Given the description of an element on the screen output the (x, y) to click on. 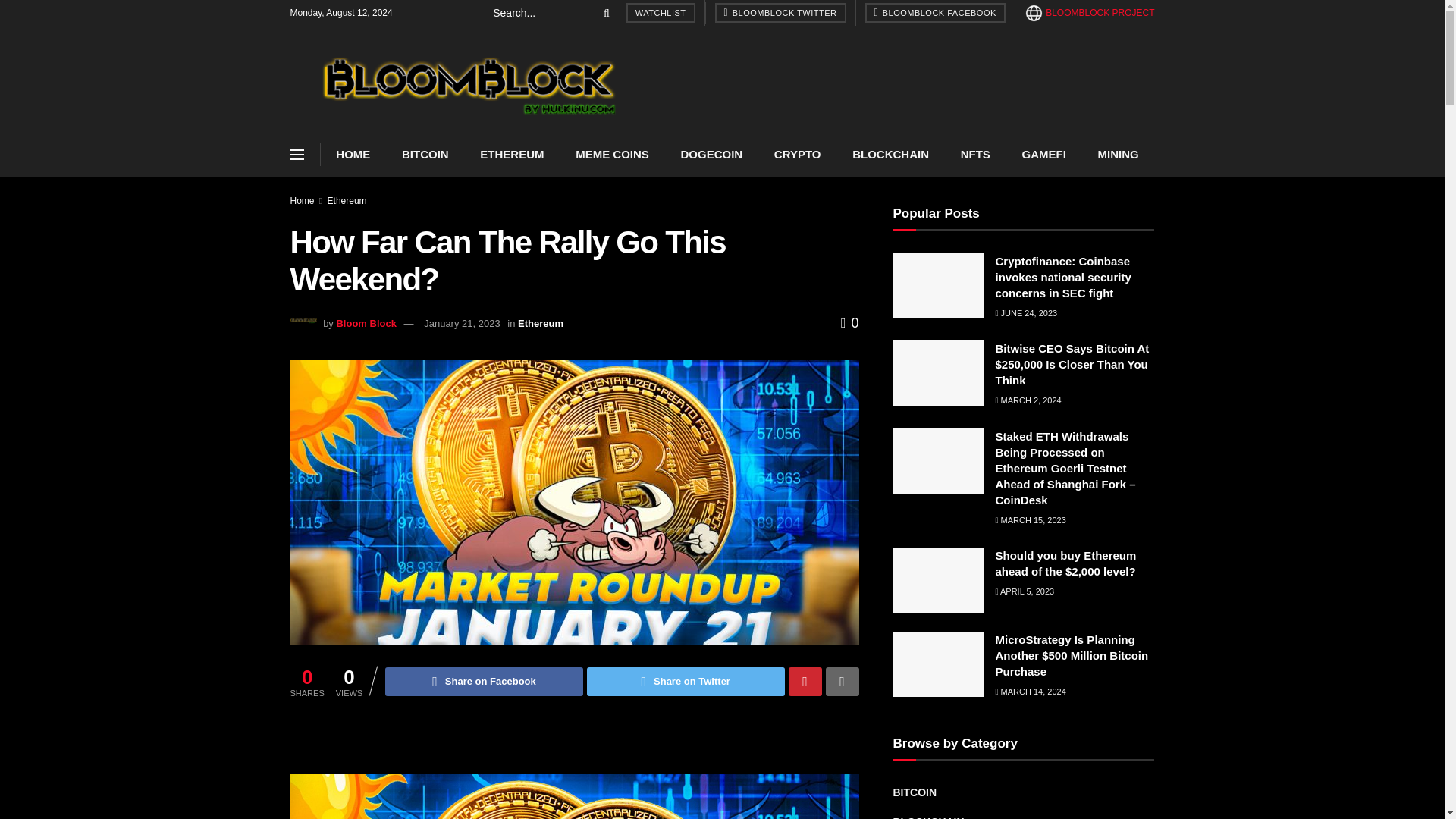
HOME (352, 154)
Share on Facebook (484, 681)
BLOOMBLOCK TWITTER (779, 12)
NFTS (975, 154)
BLOCKCHAIN (889, 154)
Share on Twitter (685, 681)
ETHEREUM (511, 154)
BITCOIN (424, 154)
MEME COINS (611, 154)
MINING (1117, 154)
